Given the description of an element on the screen output the (x, y) to click on. 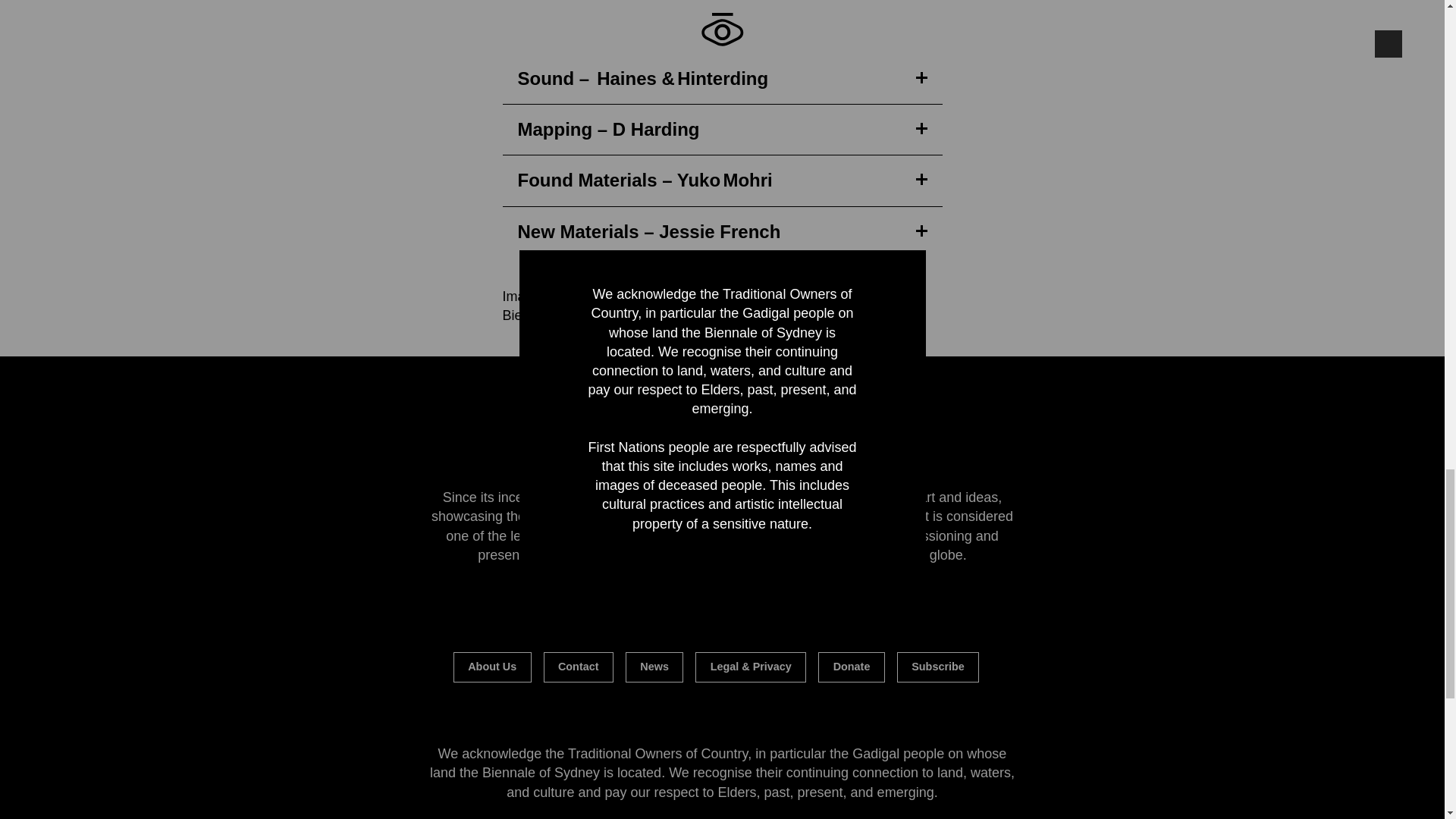
Subscribe (937, 666)
News (654, 666)
Donate (851, 666)
About Us (491, 666)
Contact (577, 666)
